Given the description of an element on the screen output the (x, y) to click on. 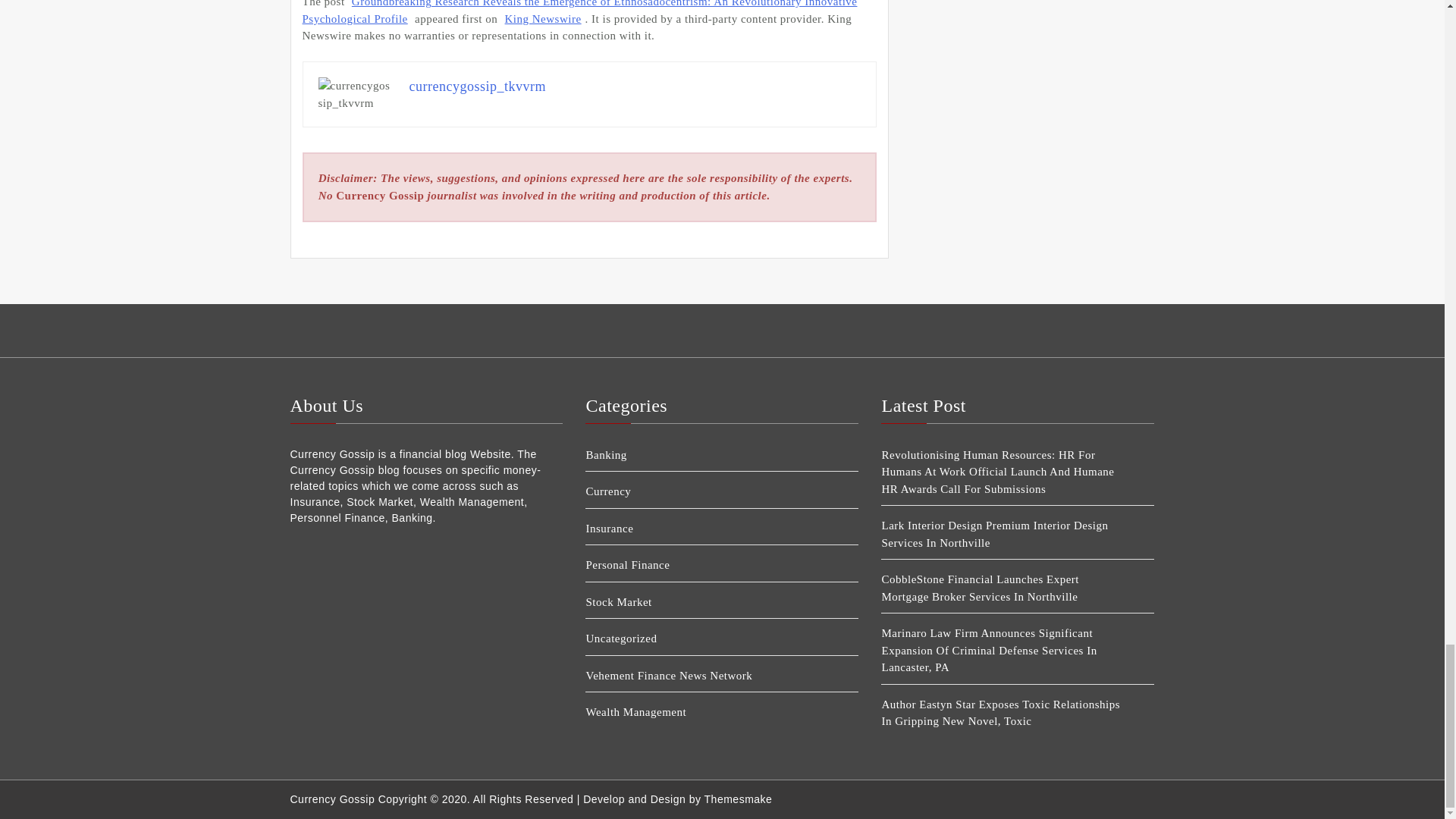
Currency (708, 491)
Insurance (708, 528)
King Newswire (542, 18)
Banking (708, 455)
